Given the description of an element on the screen output the (x, y) to click on. 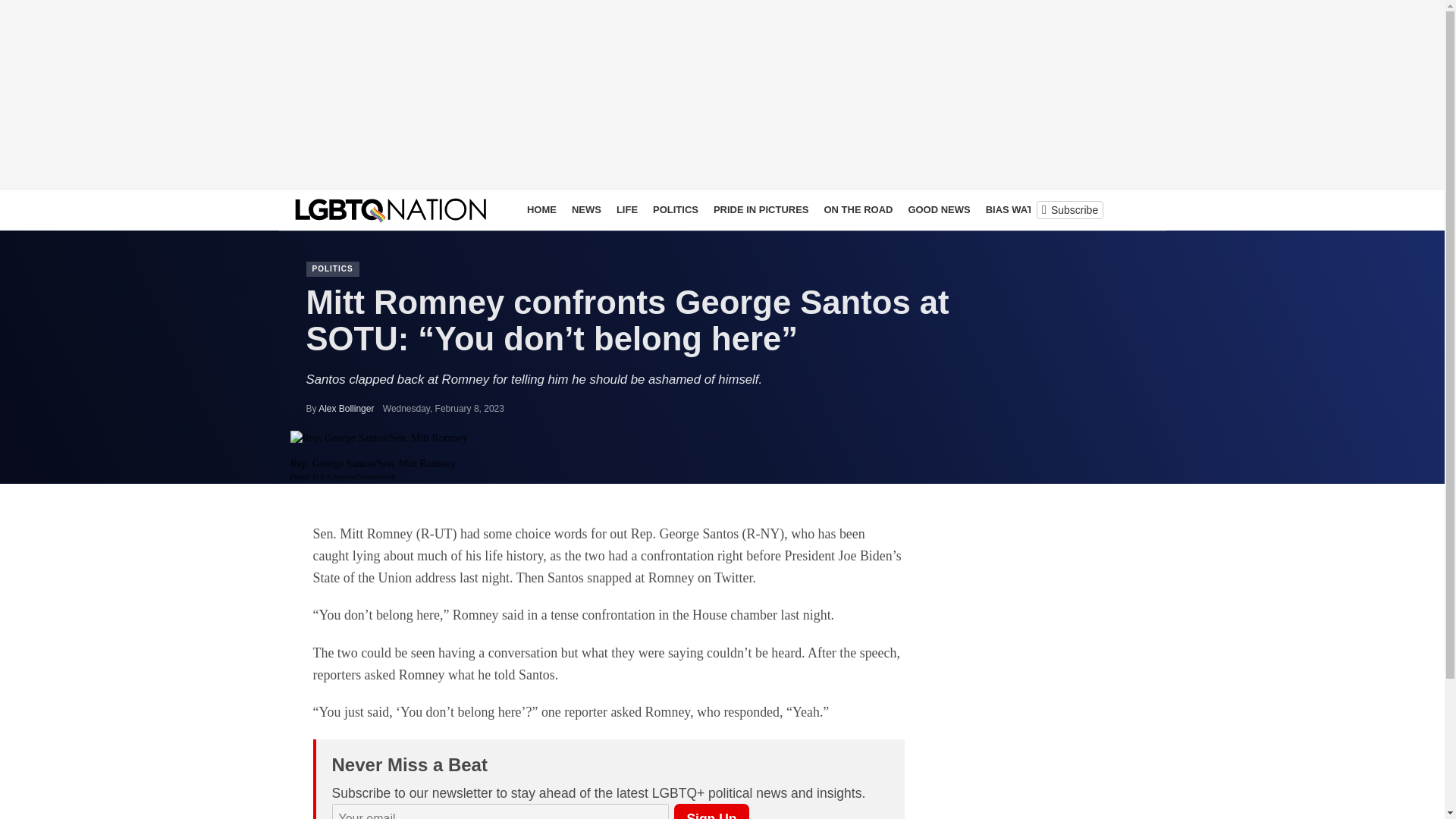
POLITICS (332, 268)
Alex Bollinger (346, 408)
mitt-romney-george-santos (378, 437)
Wednesday, February 8, 2023 am28 07:59:28 (442, 408)
BIAS WATCH (1016, 209)
Posts by Alex Bollinger (346, 408)
Sign Up (711, 811)
COMMENTARY (1097, 209)
HOME (541, 209)
POLITICS (675, 209)
Subscribe (1069, 209)
LIFE (626, 209)
NEWS (586, 209)
ON THE ROAD (857, 209)
GOOD NEWS (937, 209)
